Given the description of an element on the screen output the (x, y) to click on. 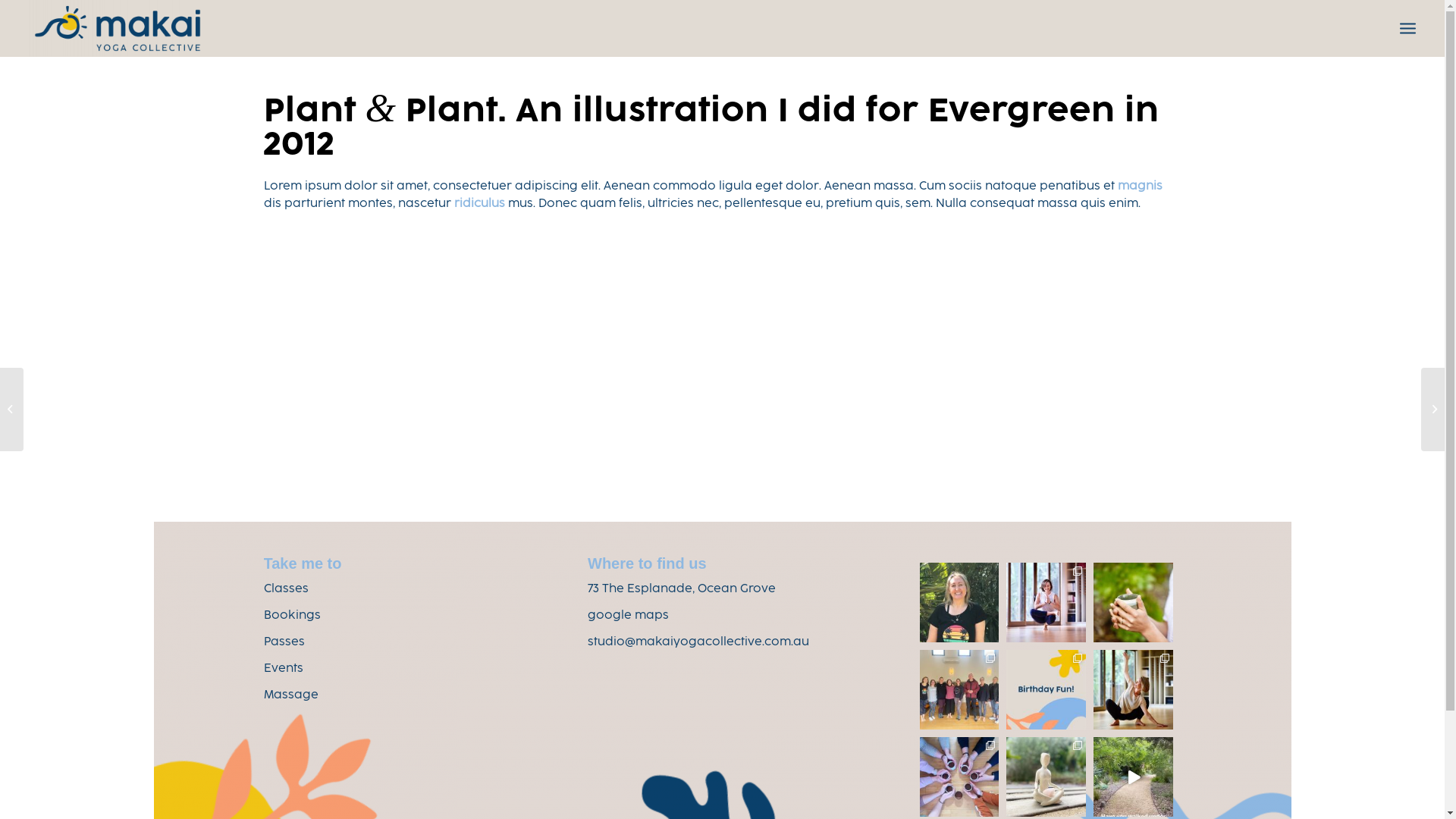
Events Element type: text (283, 668)
Bookings Element type: text (291, 615)
google maps Element type: text (627, 615)
Passes Element type: text (283, 642)
Classes Element type: text (285, 589)
Massage Element type: text (290, 695)
